Given the description of an element on the screen output the (x, y) to click on. 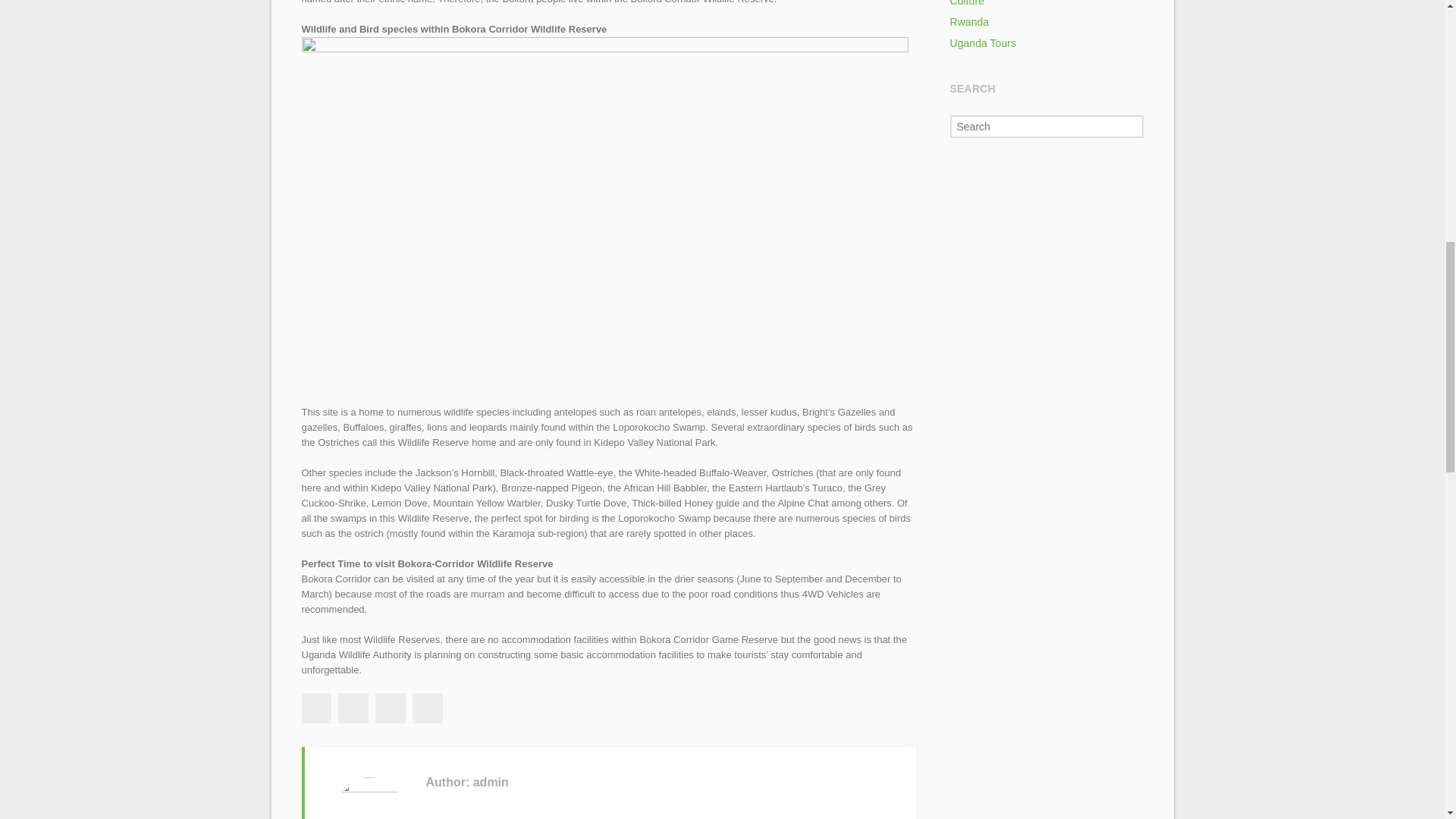
Twitter (352, 707)
Facebook (314, 707)
Pinterest (427, 707)
